Given the description of an element on the screen output the (x, y) to click on. 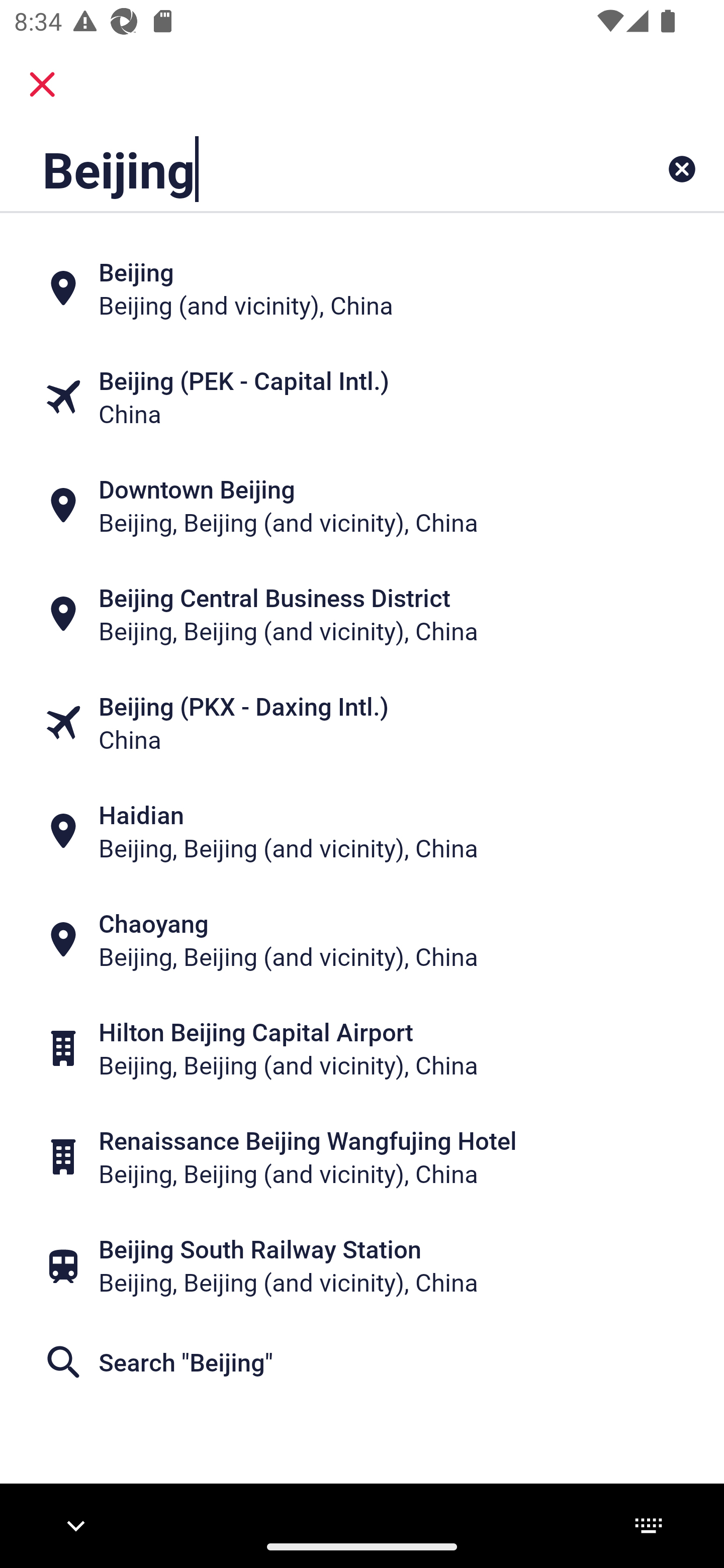
close. (42, 84)
Clear (681, 169)
Beijing (298, 169)
Beijing Beijing (and vicinity), China (362, 288)
Beijing (PEK - Capital Intl.) China (362, 397)
Beijing (PKX - Daxing Intl.) China (362, 722)
Haidian Beijing, Beijing (and vicinity), China (362, 831)
Chaoyang Beijing, Beijing (and vicinity), China (362, 939)
Search "Beijing" (362, 1362)
